Given the description of an element on the screen output the (x, y) to click on. 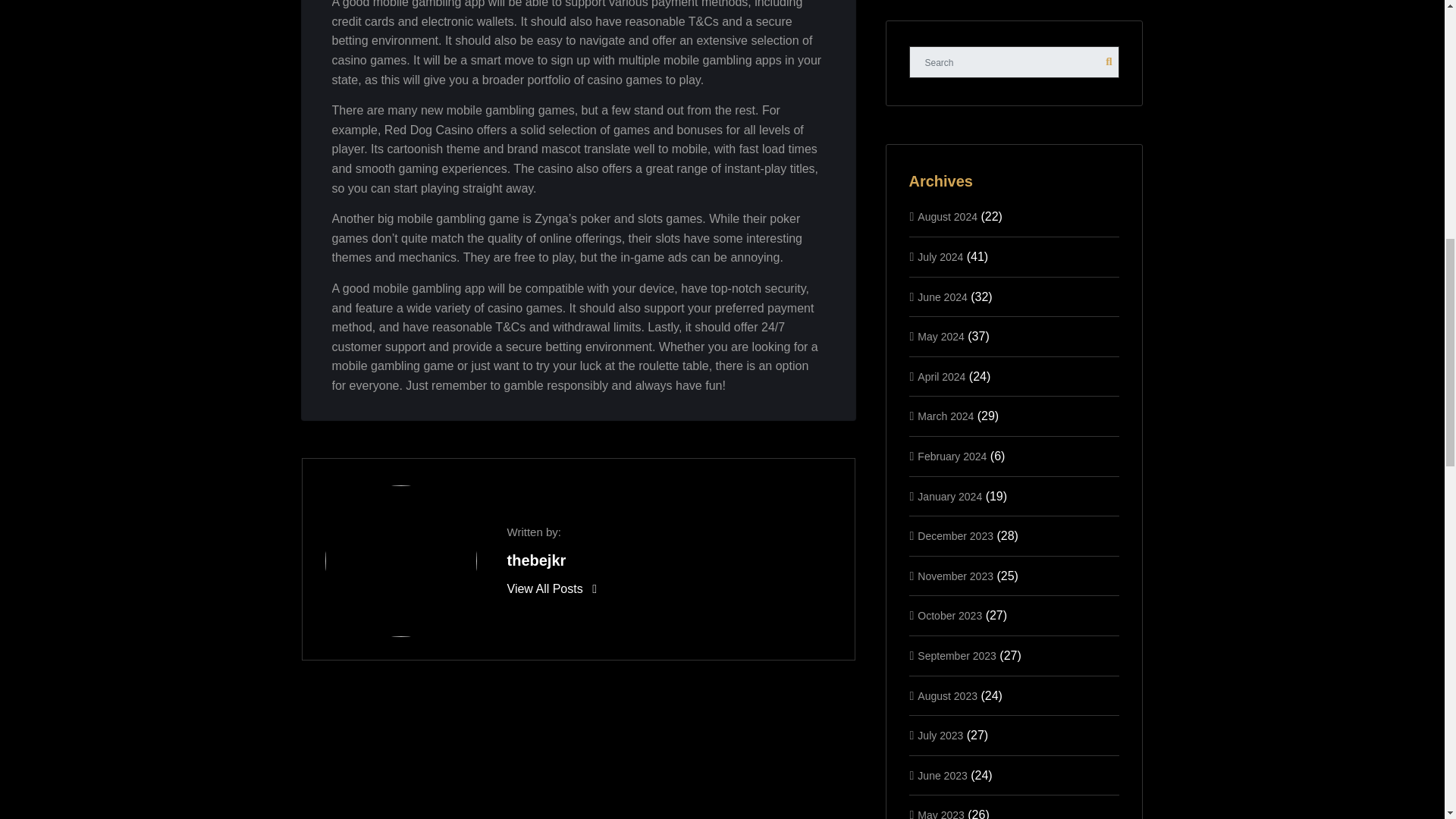
May 2024 (940, 336)
January 2024 (949, 496)
August 2024 (946, 216)
April 2024 (941, 377)
March 2024 (945, 416)
July 2024 (939, 256)
February 2024 (952, 456)
June 2024 (941, 297)
View All Posts (550, 588)
